Given the description of an element on the screen output the (x, y) to click on. 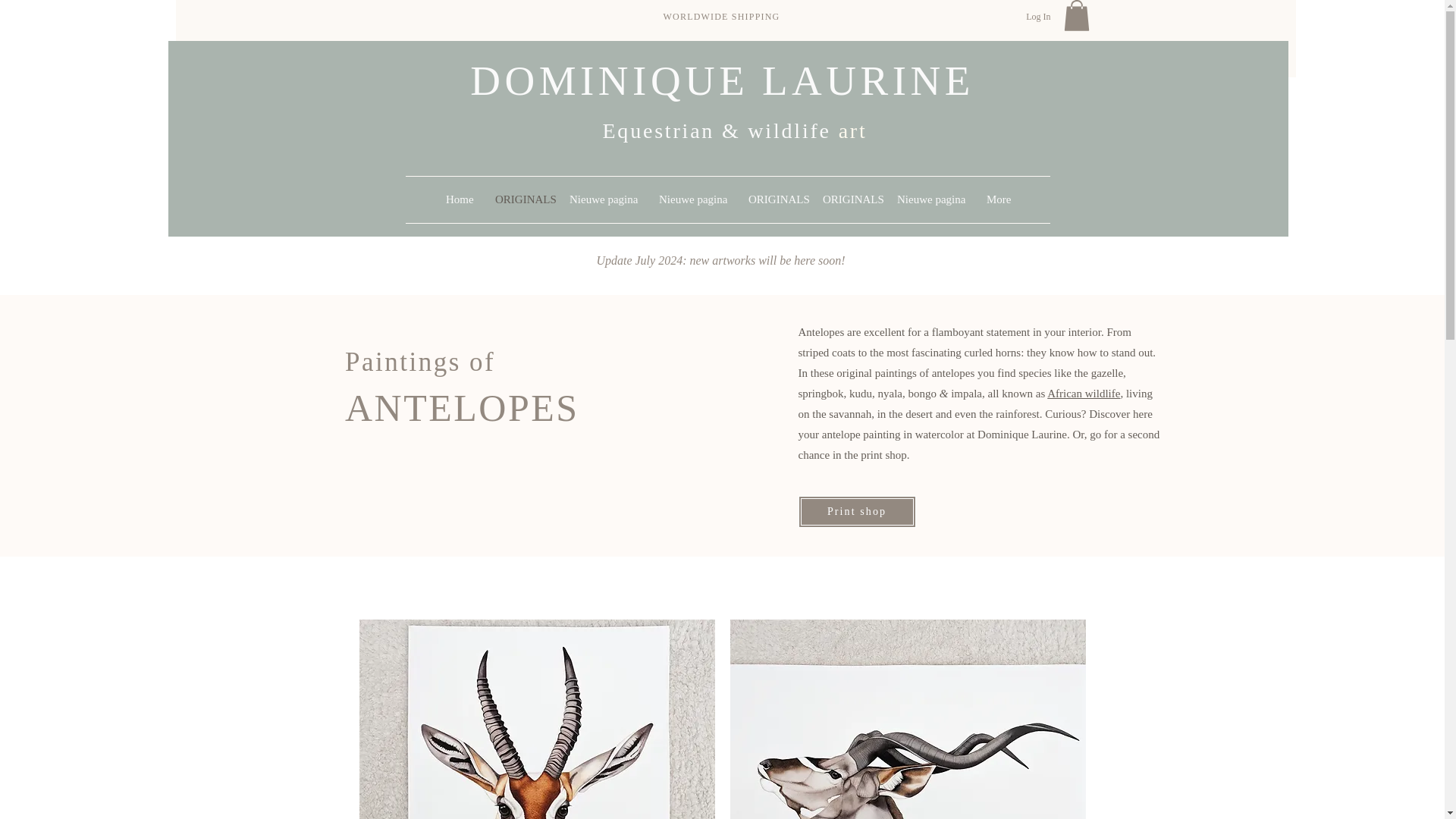
Nieuwe pagina (691, 199)
Nieuwe pagina (602, 199)
ORIGINALS (520, 199)
Log In (1037, 16)
Nieuwe pagina (930, 199)
Home (458, 199)
ORIGINALS (847, 199)
ORIGINALS (773, 199)
